Given the description of an element on the screen output the (x, y) to click on. 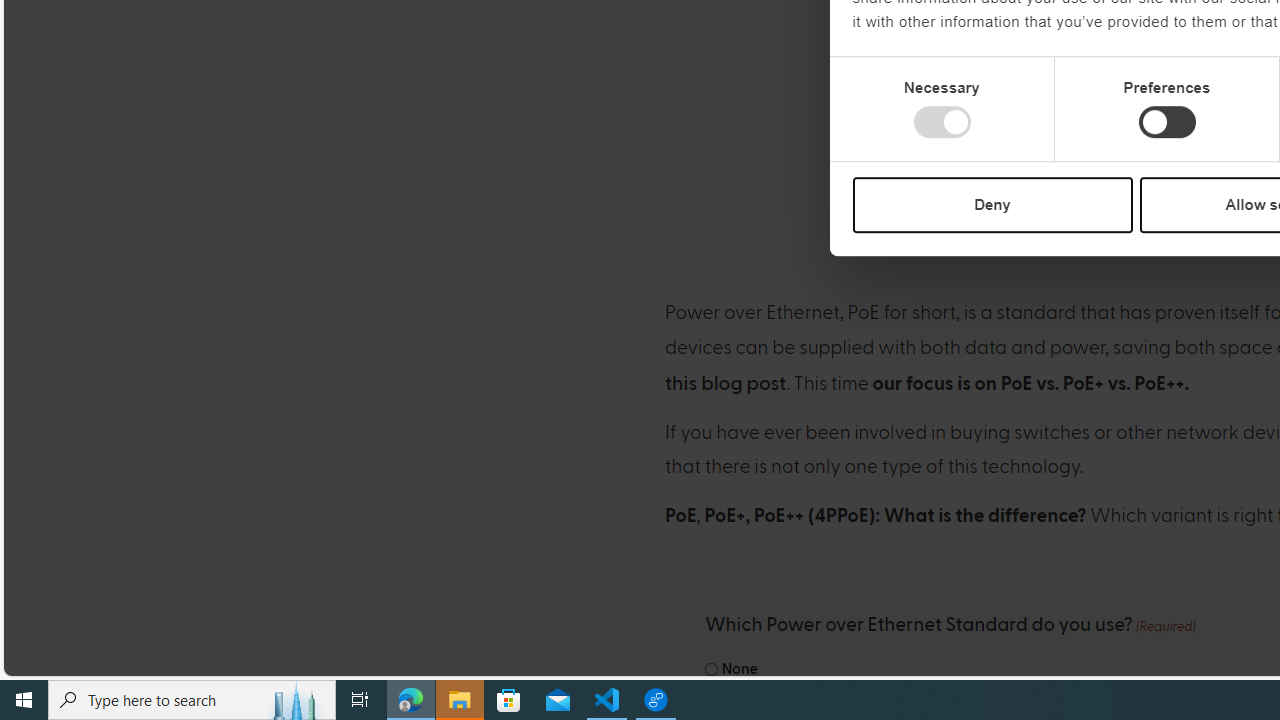
None (711, 669)
Deny (992, 204)
Preferences (1166, 121)
Necessary (941, 121)
